Given the description of an element on the screen output the (x, y) to click on. 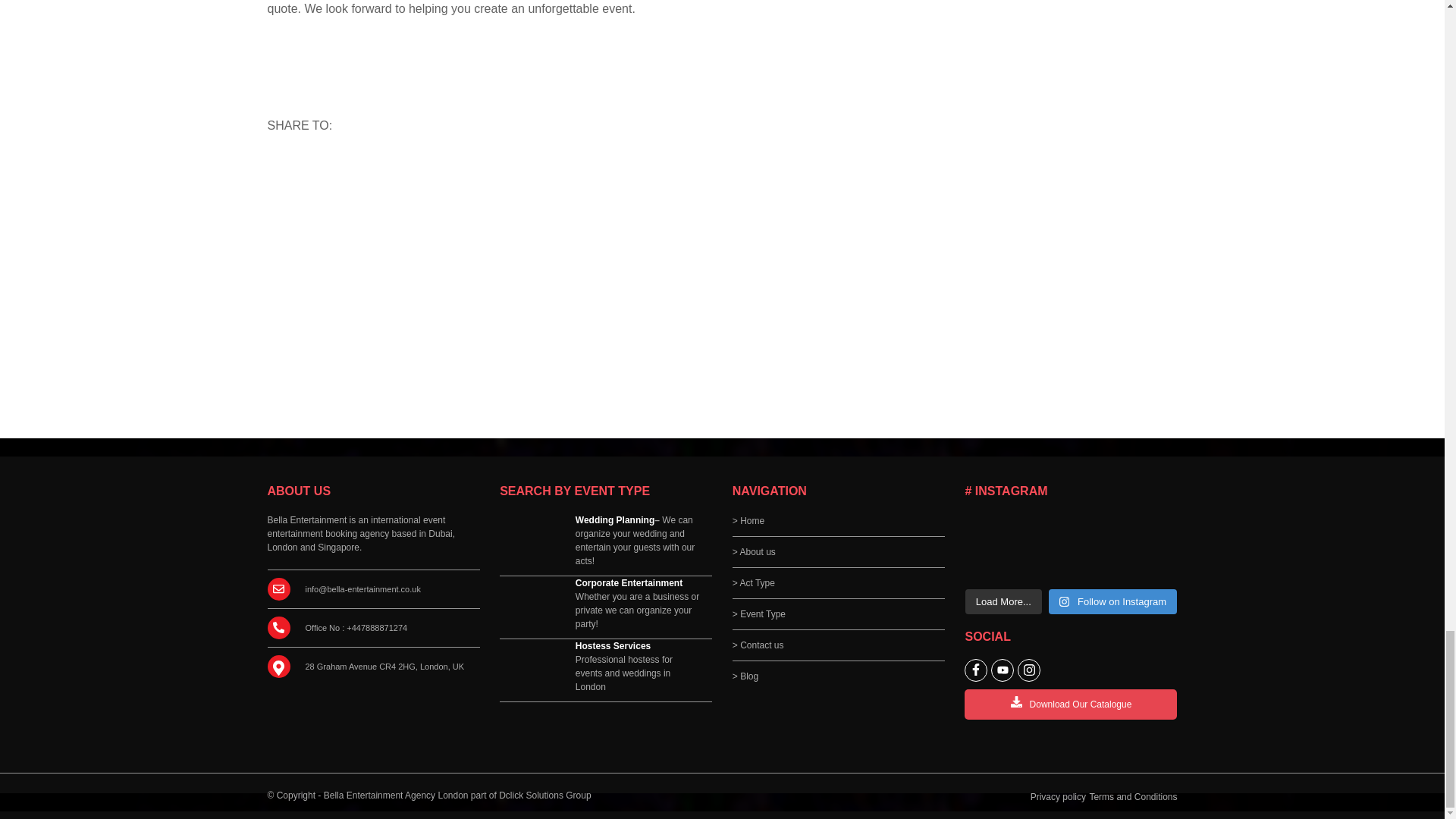
Twitter (387, 168)
RSS (284, 168)
Follow by Email (319, 168)
Facebook (352, 168)
